Given the description of an element on the screen output the (x, y) to click on. 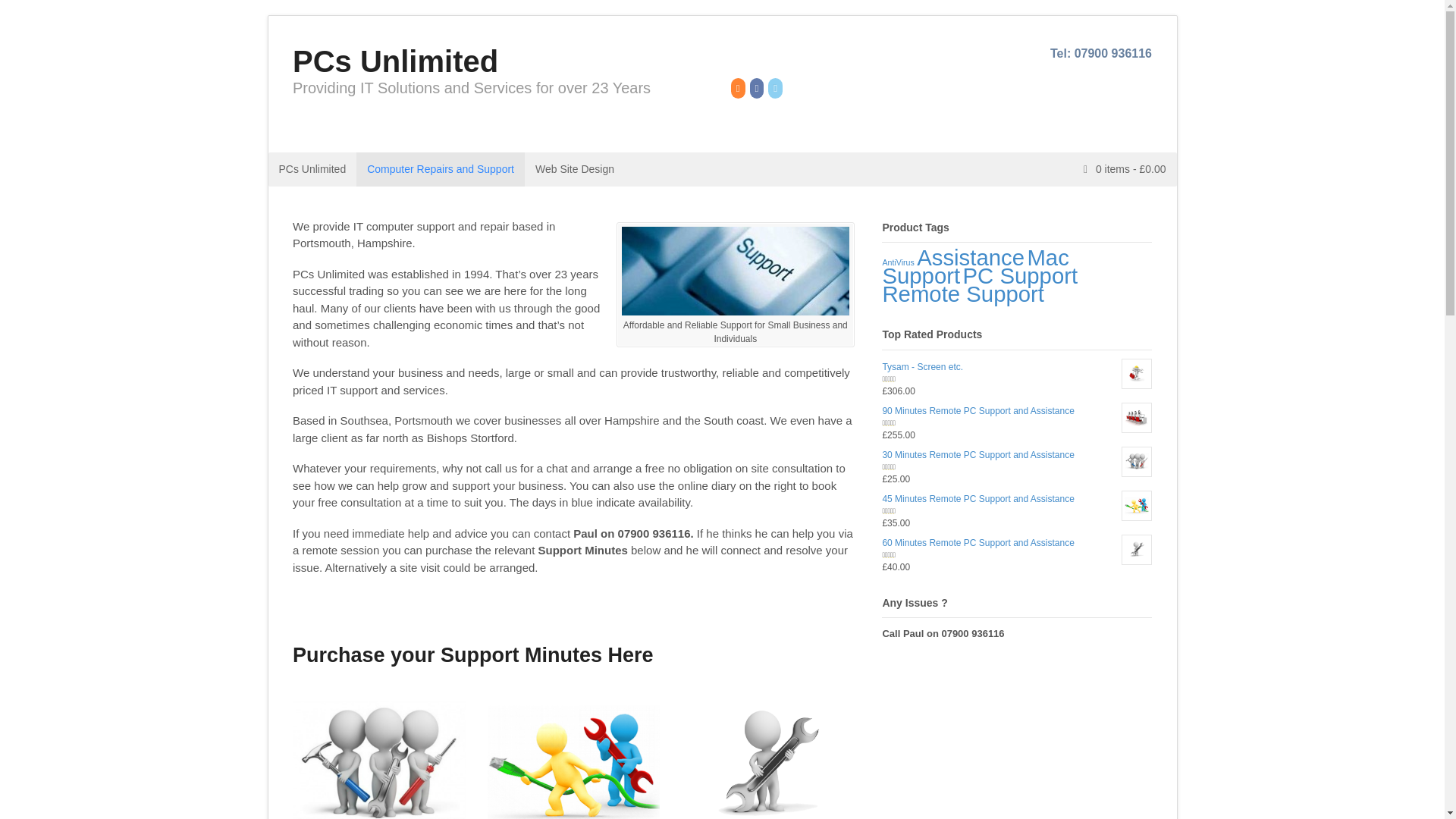
Computer Repairs and Support (574, 169)
Computer Repairs and Support (440, 169)
View your shopping cart (1124, 168)
45 Minutes Remote PC Support and Assistance (1016, 498)
Computer Repairs and Support (440, 169)
LinkedIn (776, 88)
90 Minutes Remote PC Support and Assistance (1016, 410)
Mac Support (975, 266)
PC Support (1020, 275)
Web Site Design (574, 169)
